Given the description of an element on the screen output the (x, y) to click on. 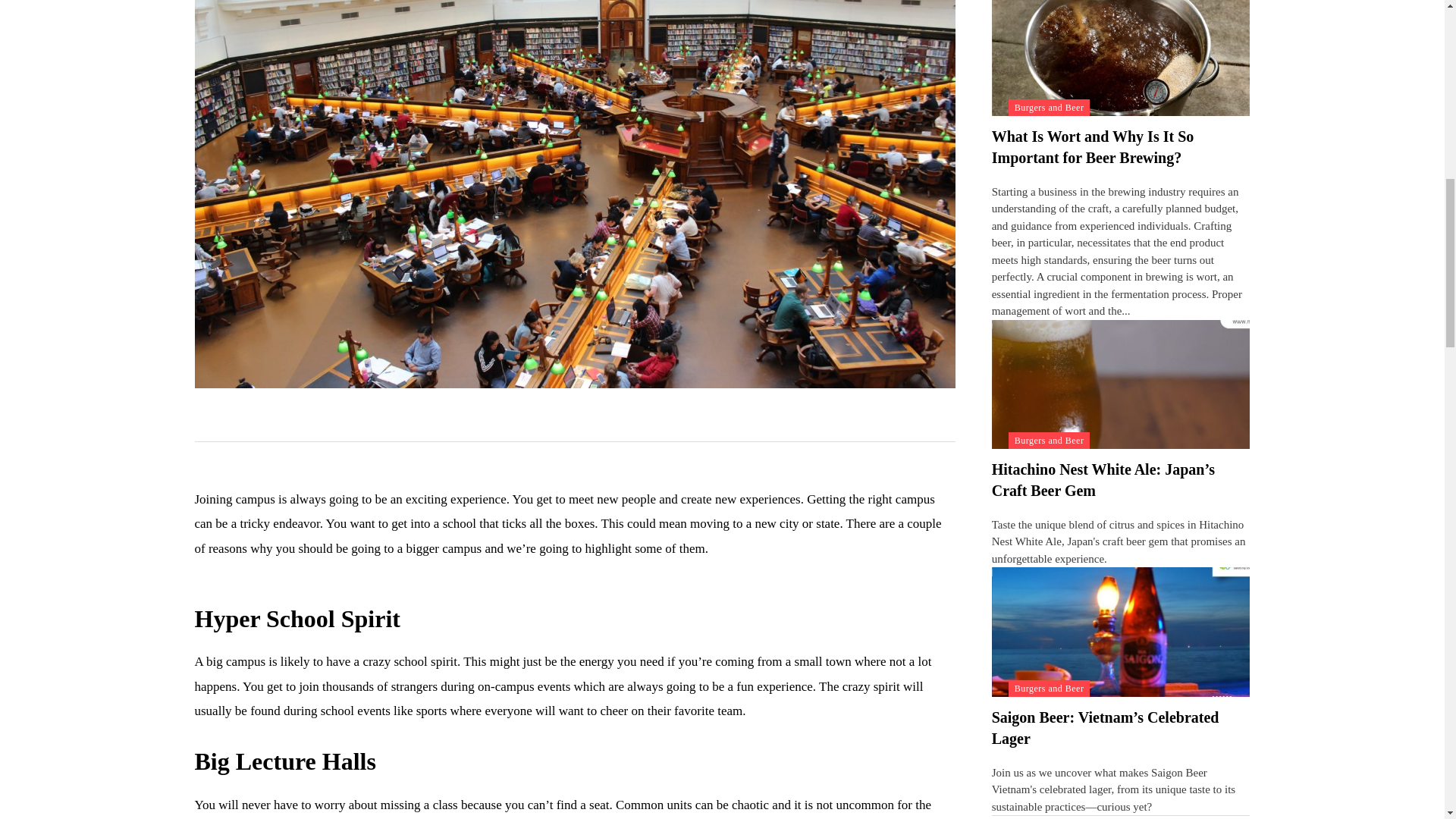
What Is Wort and Why Is It So Important for Beer Brewing? (1092, 146)
What Is Wort and Why Is It So Important for Beer Brewing? (1120, 57)
